Given the description of an element on the screen output the (x, y) to click on. 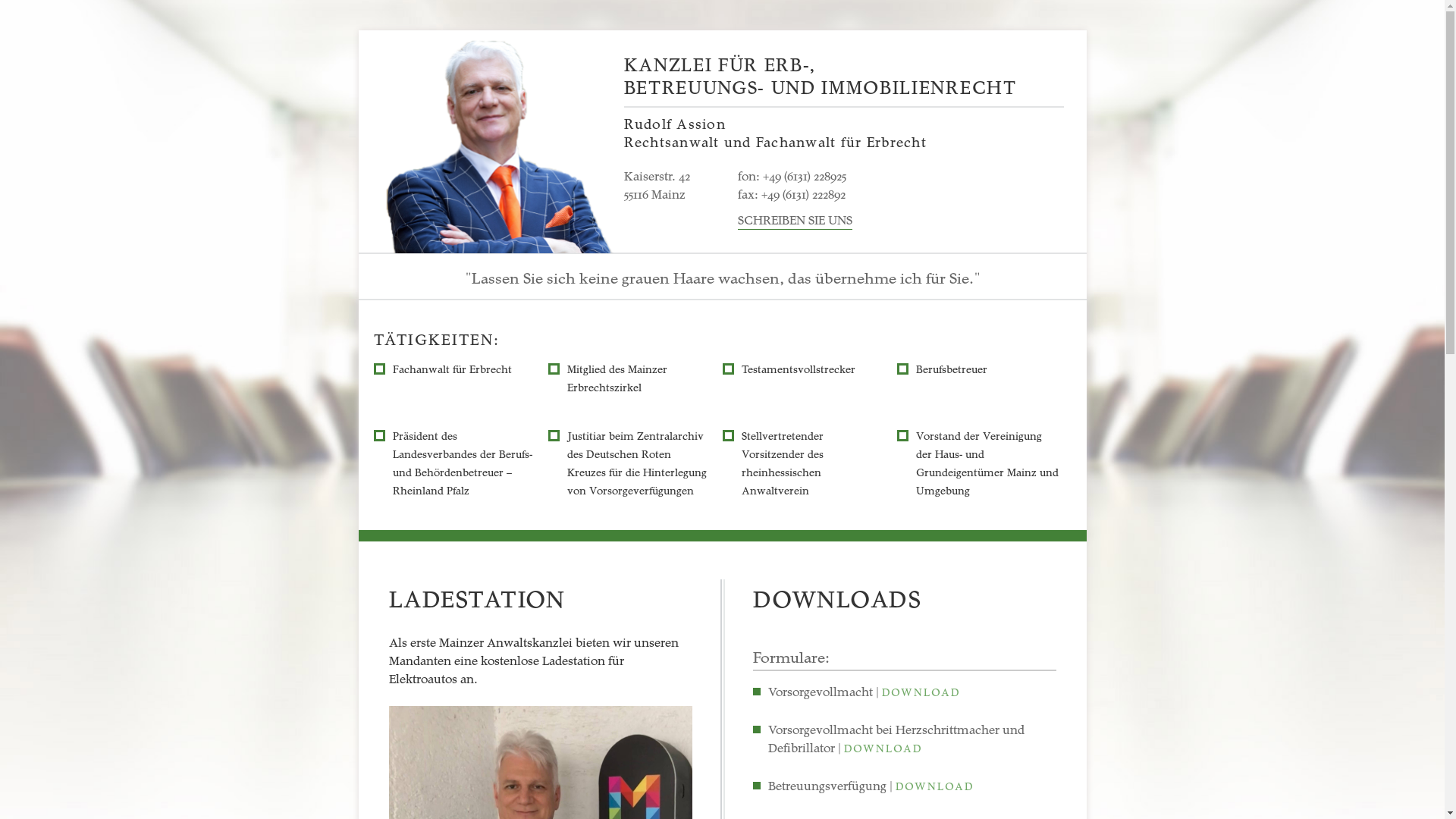
DOWNLOAD Element type: text (882, 748)
DOWNLOAD Element type: text (934, 785)
DOWNLOAD Element type: text (920, 691)
SCHREIBEN SIE UNS Element type: text (794, 219)
